Given the description of an element on the screen output the (x, y) to click on. 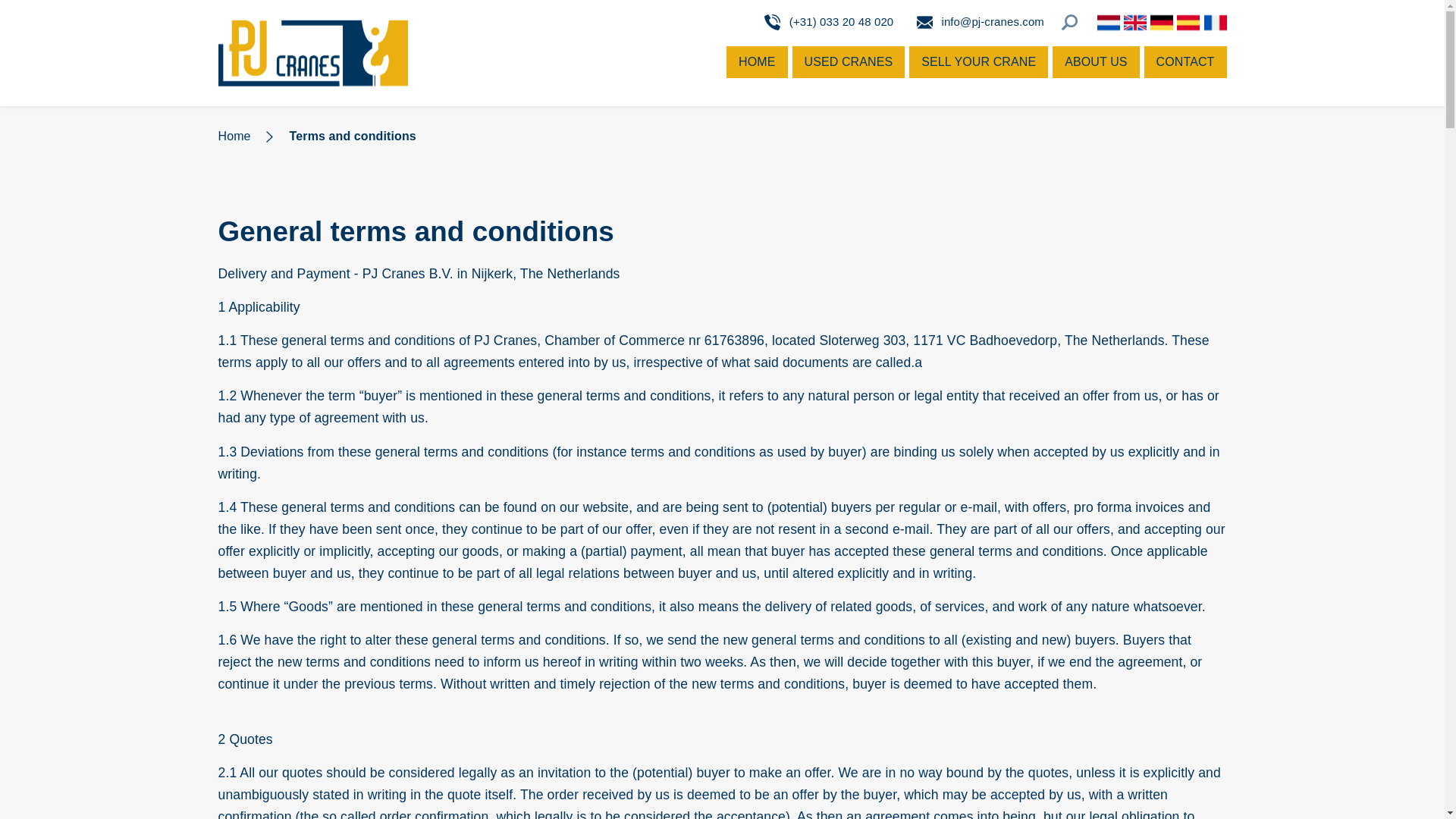
ABOUT US (1095, 61)
Nederlands (1108, 25)
Deutsch (1161, 25)
Home (234, 136)
English (1135, 25)
USED CRANES (848, 61)
SELL YOUR CRANE (978, 61)
CONTACT (1185, 61)
Terms and conditions (352, 136)
HOME (756, 61)
France (1215, 25)
